Given the description of an element on the screen output the (x, y) to click on. 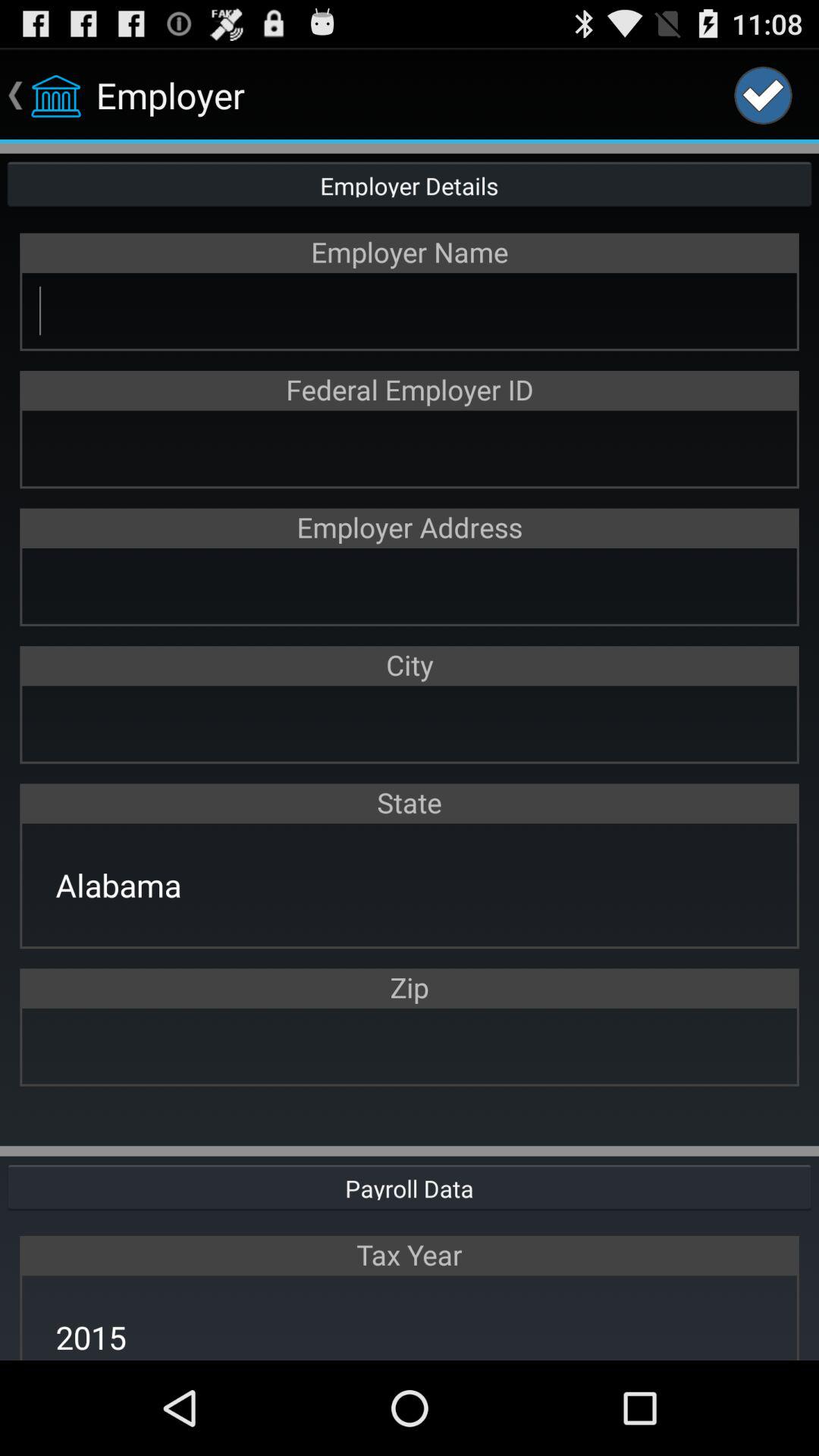
enter text in the city field (409, 723)
